Given the description of an element on the screen output the (x, y) to click on. 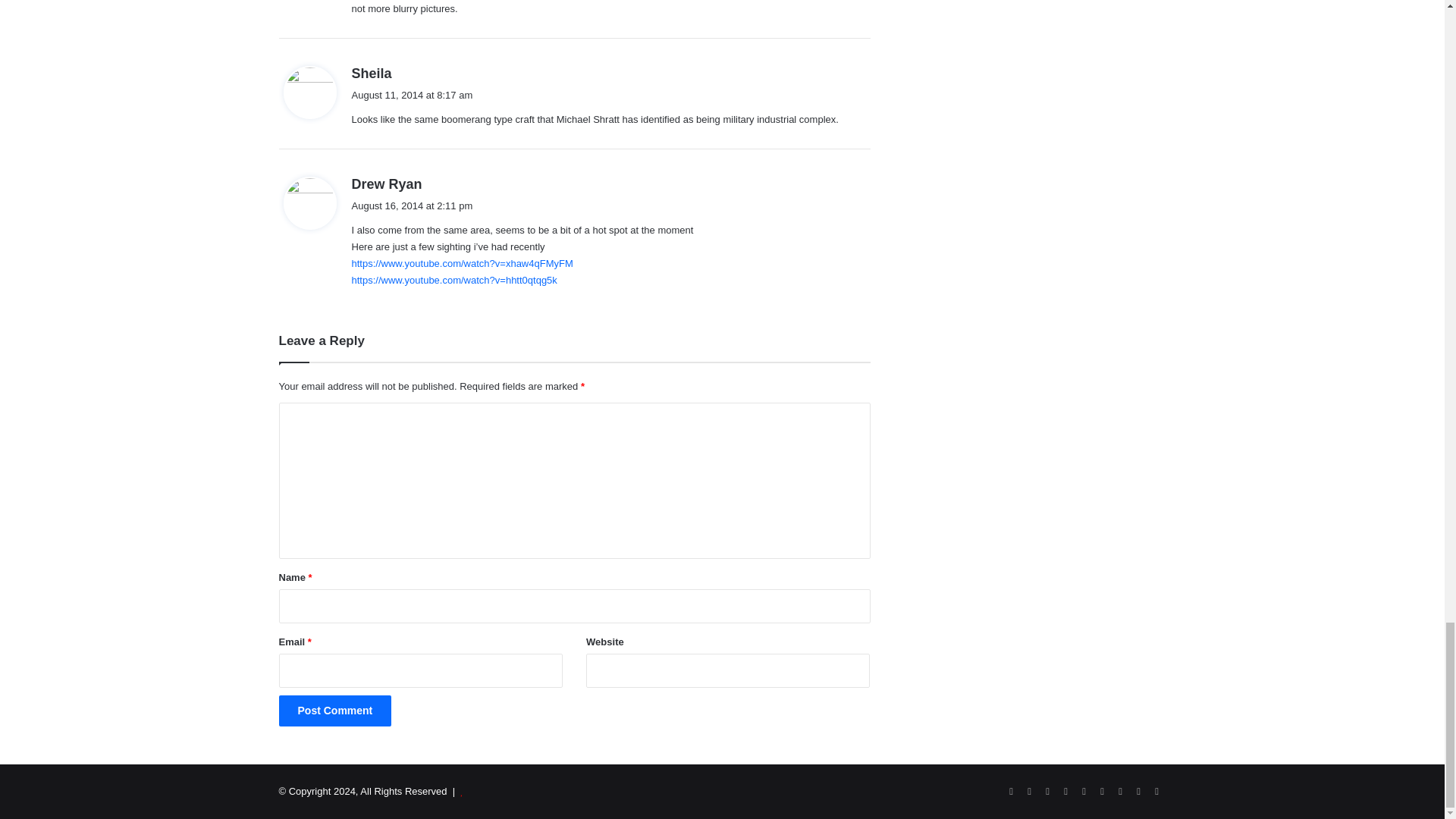
Post Comment (335, 710)
